Given the description of an element on the screen output the (x, y) to click on. 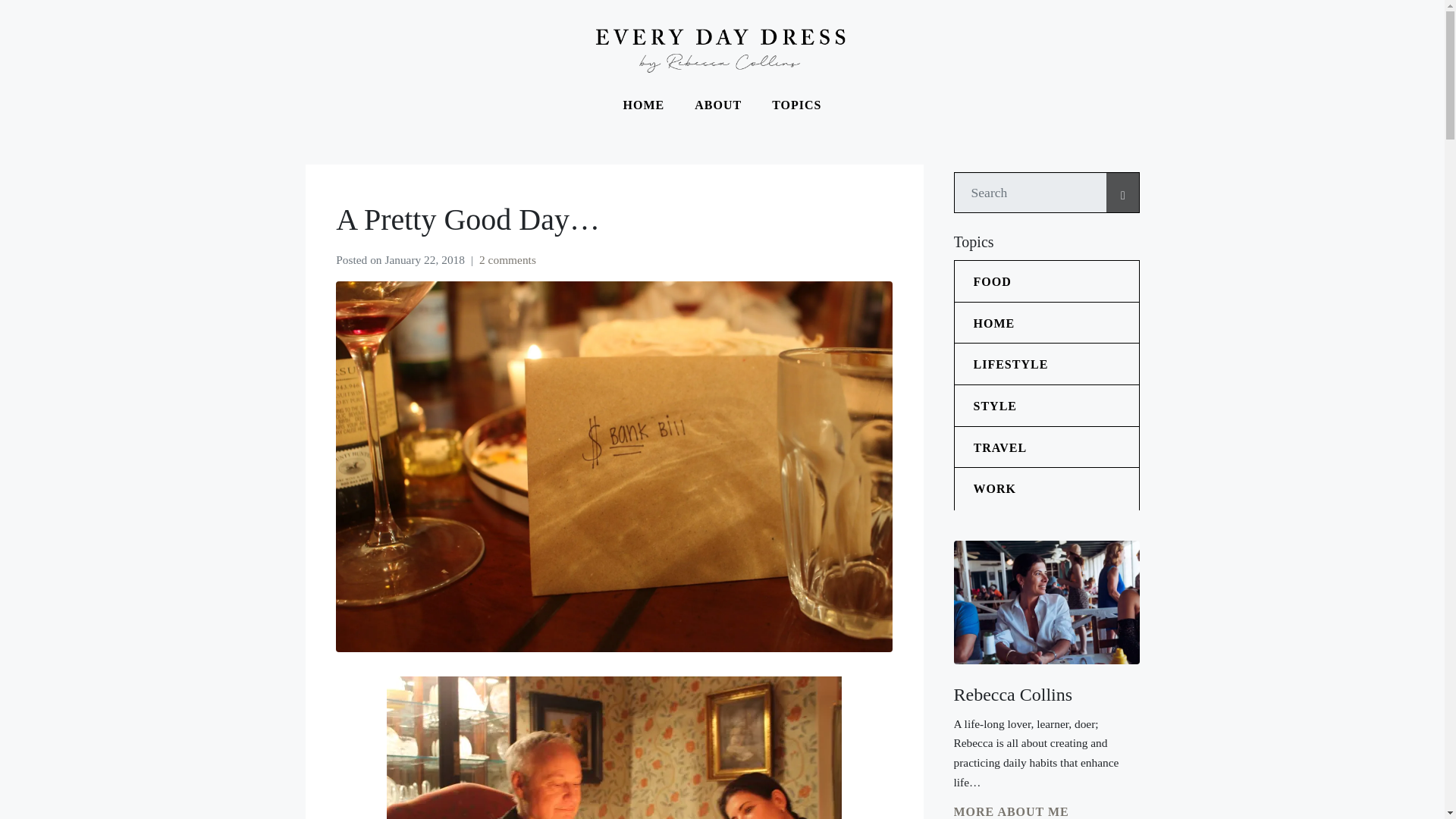
HOME (643, 104)
TOPICS (796, 104)
ABOUT (718, 104)
2 comments (507, 259)
